Given the description of an element on the screen output the (x, y) to click on. 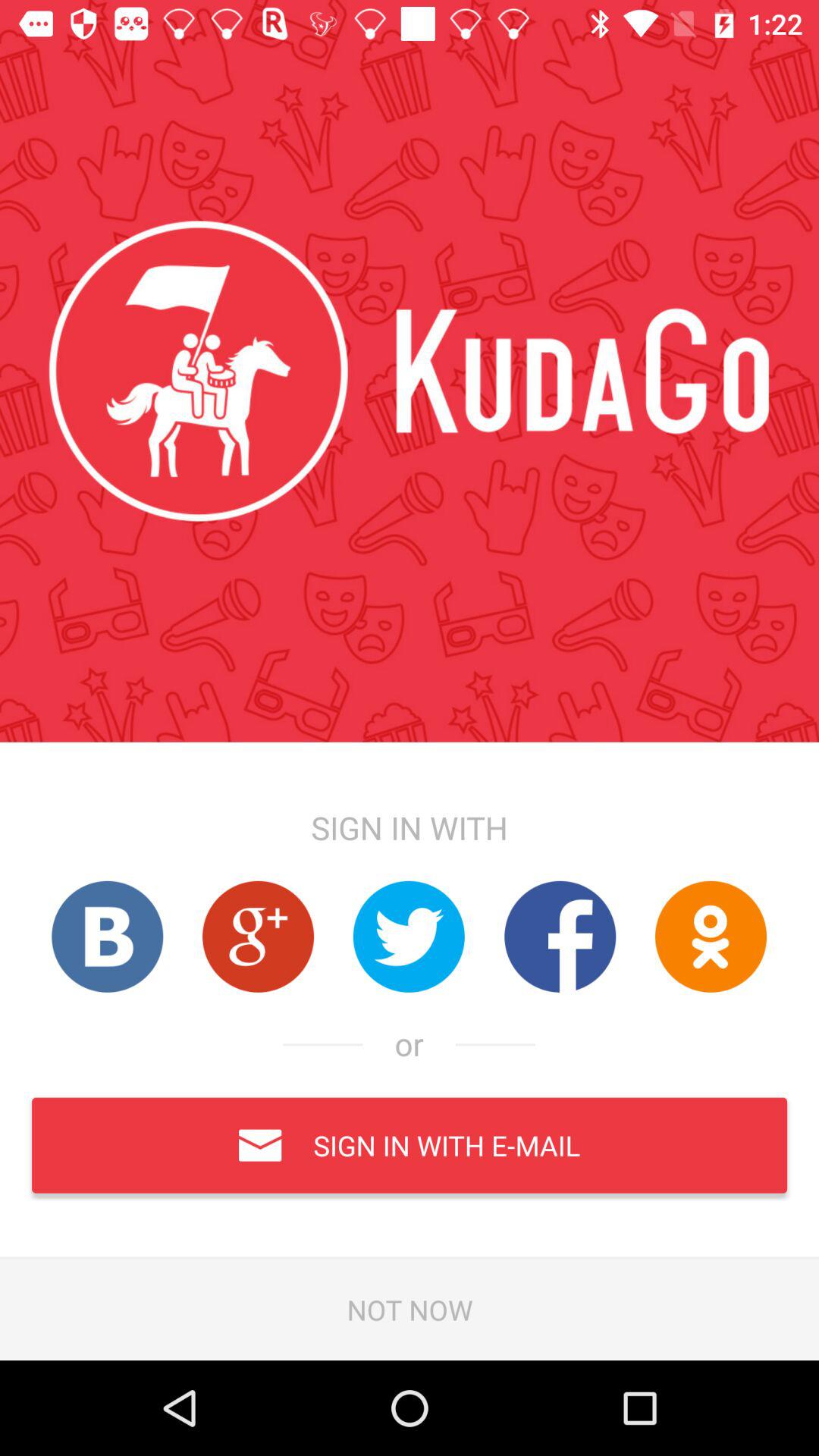
facebook (559, 936)
